Given the description of an element on the screen output the (x, y) to click on. 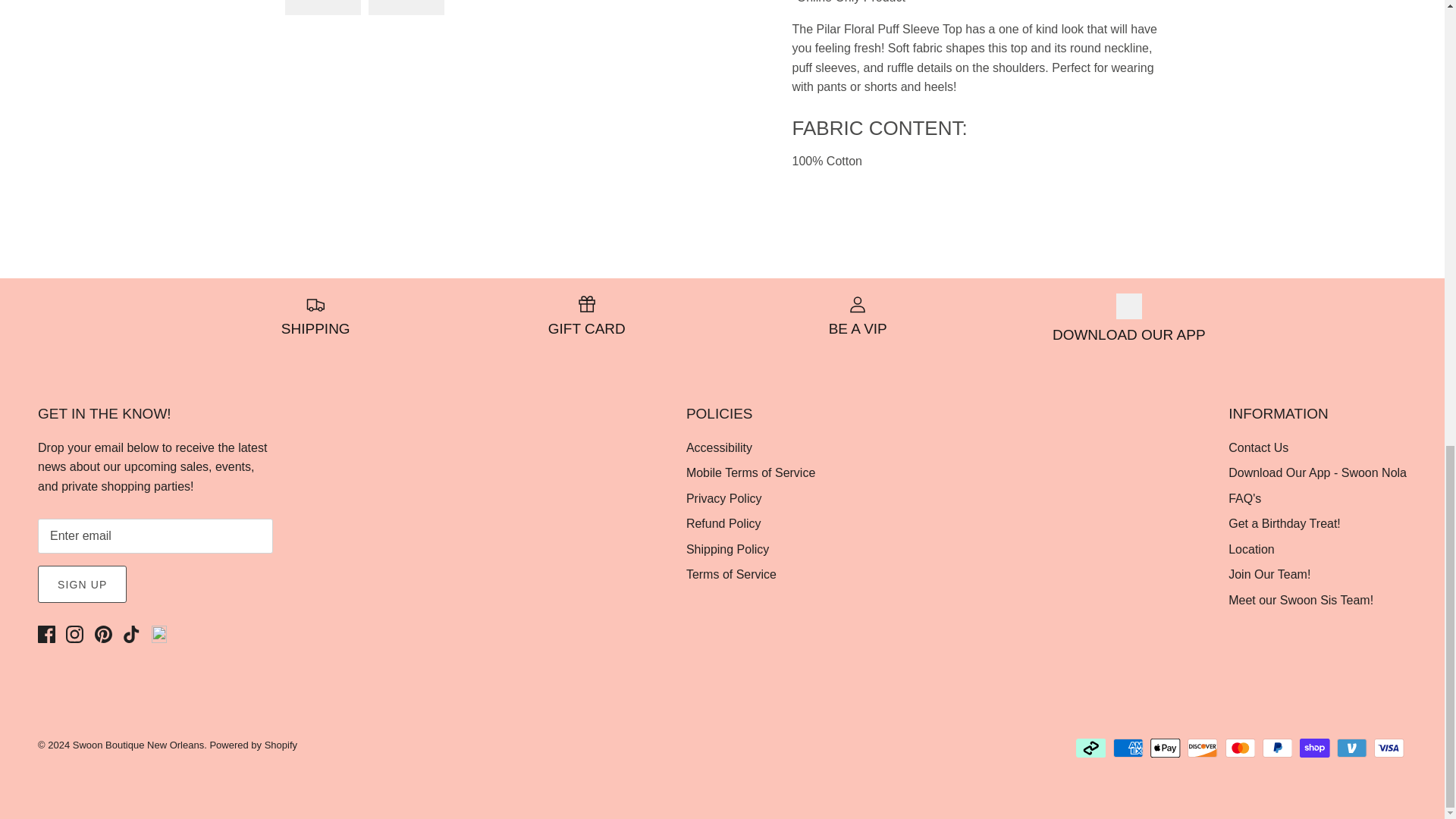
Pinterest (103, 633)
Facebook (46, 633)
Afterpay (1090, 747)
Instagram (73, 633)
